Given the description of an element on the screen output the (x, y) to click on. 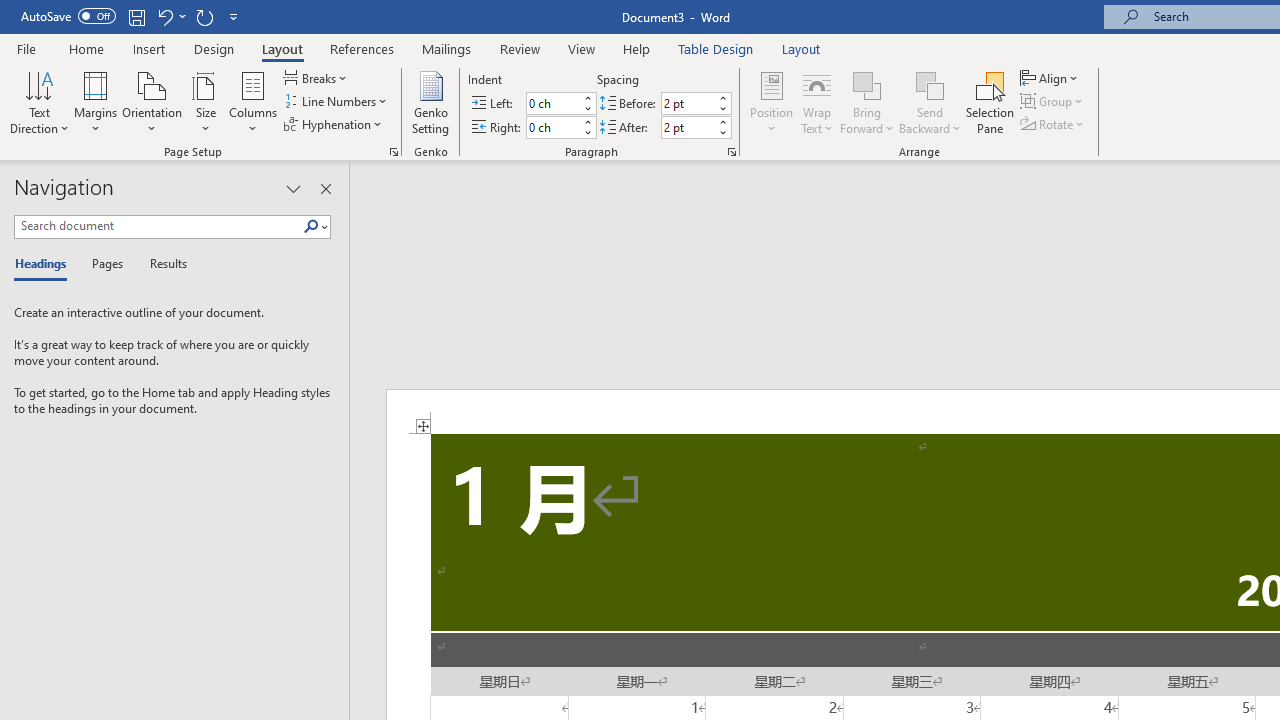
Genko Setting... (430, 102)
More (722, 121)
Bring Forward (867, 102)
Columns (253, 102)
Send Backward (930, 102)
Rotate (1053, 124)
Bring Forward (867, 84)
